Given the description of an element on the screen output the (x, y) to click on. 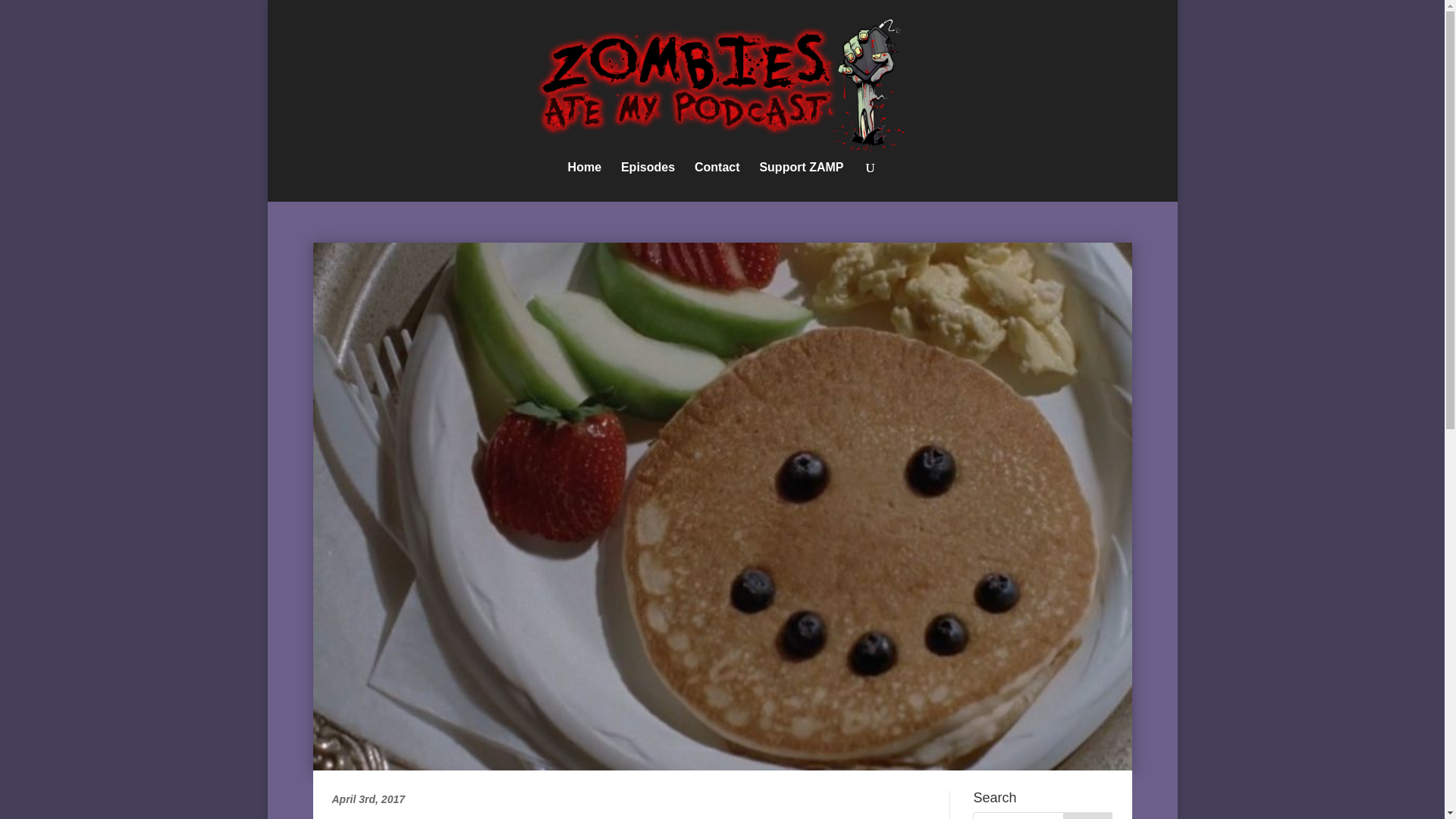
Support ZAMP (800, 181)
Search (1087, 815)
Contact (716, 181)
Episodes (648, 181)
Search (1087, 815)
